Given the description of an element on the screen output the (x, y) to click on. 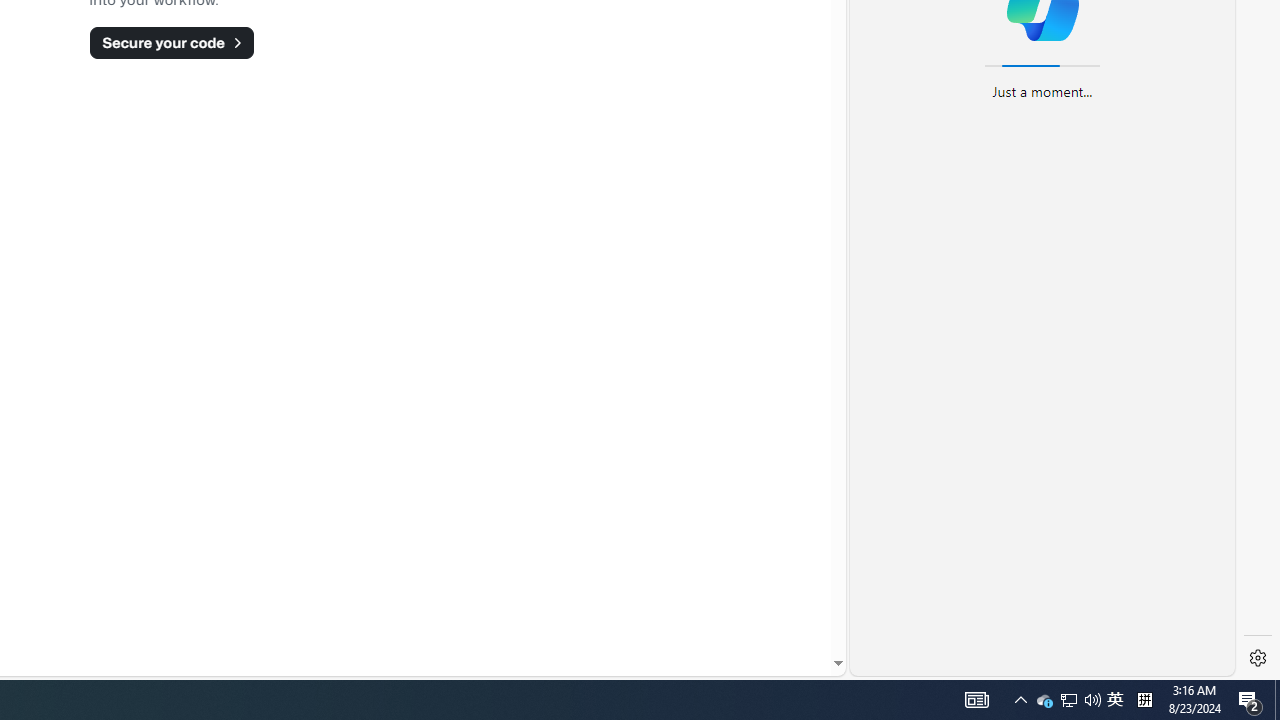
Secure your code (171, 42)
